Given the description of an element on the screen output the (x, y) to click on. 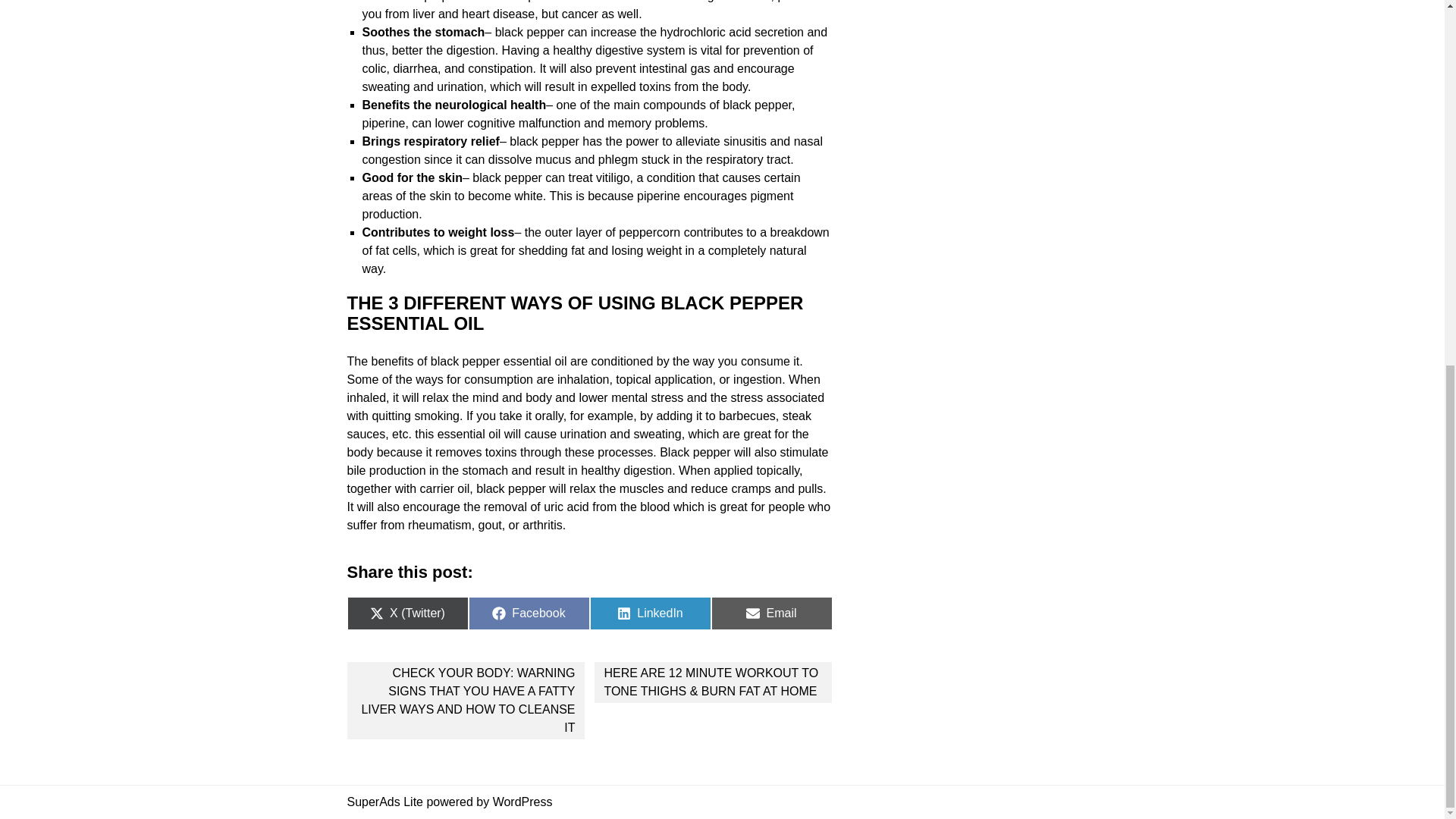
SuperAds Lite (385, 801)
WordPress (650, 613)
